Given the description of an element on the screen output the (x, y) to click on. 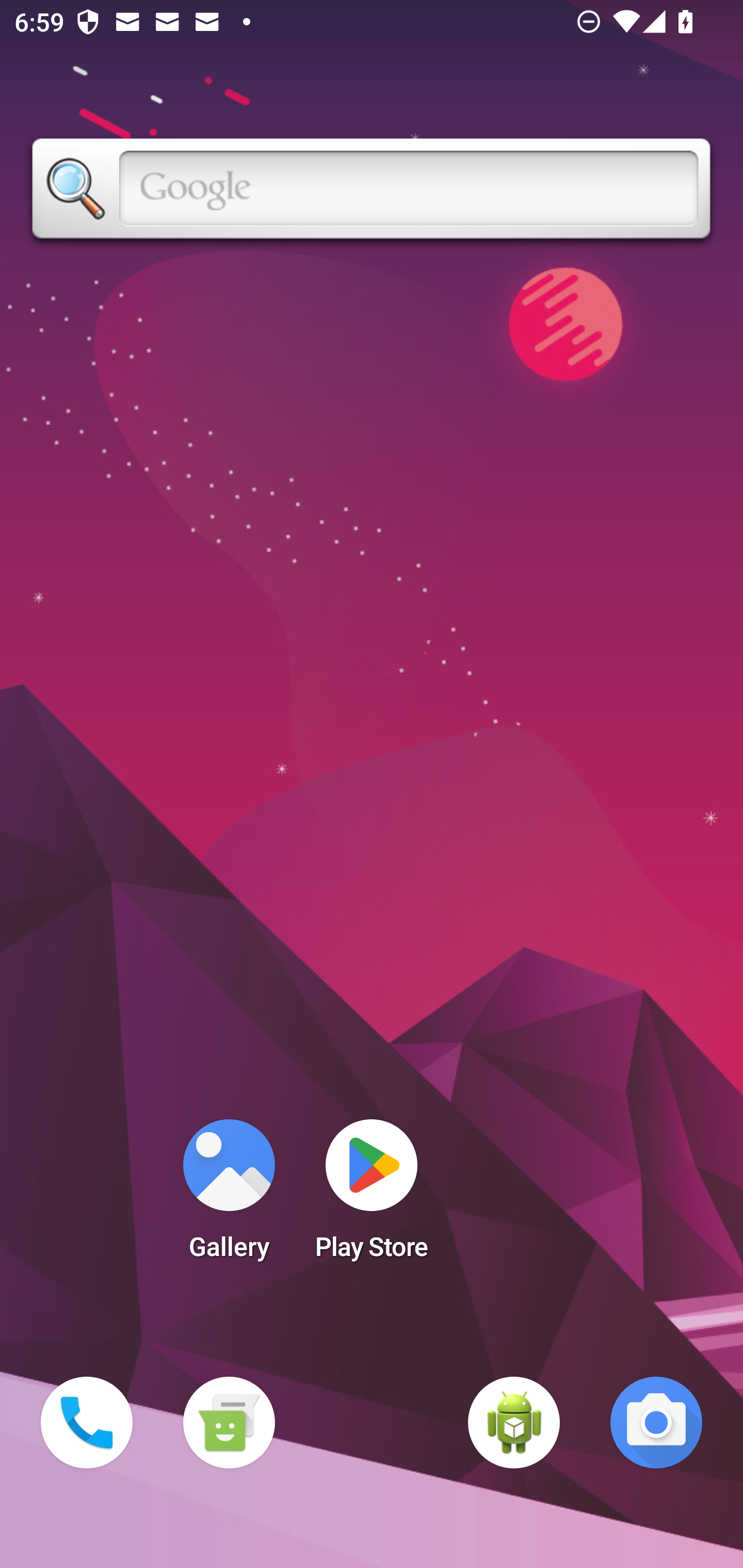
Gallery (228, 1195)
Play Store (371, 1195)
Phone (86, 1422)
Messaging (228, 1422)
WebView Browser Tester (513, 1422)
Camera (656, 1422)
